Given the description of an element on the screen output the (x, y) to click on. 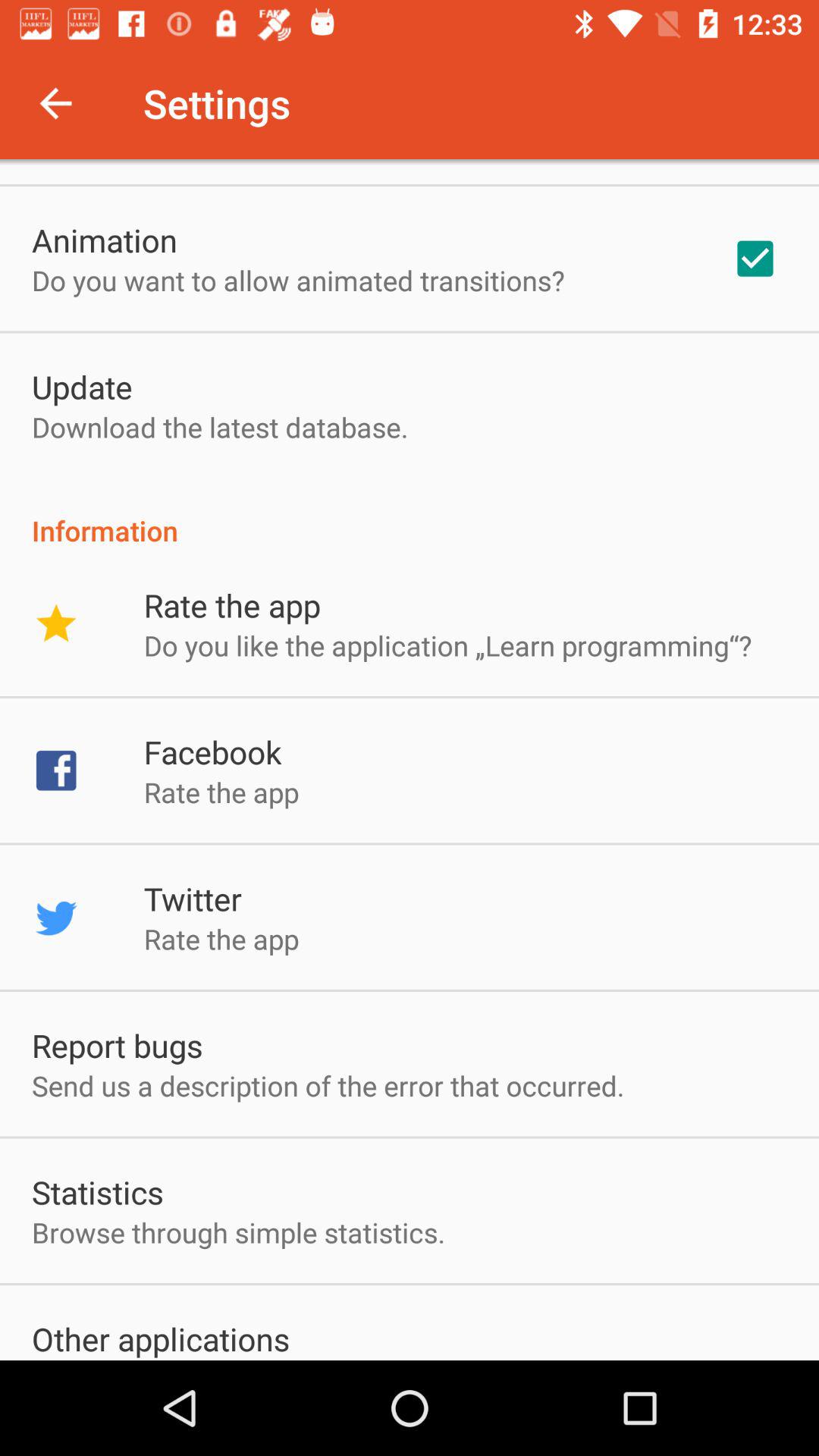
flip until the facebook (212, 751)
